Given the description of an element on the screen output the (x, y) to click on. 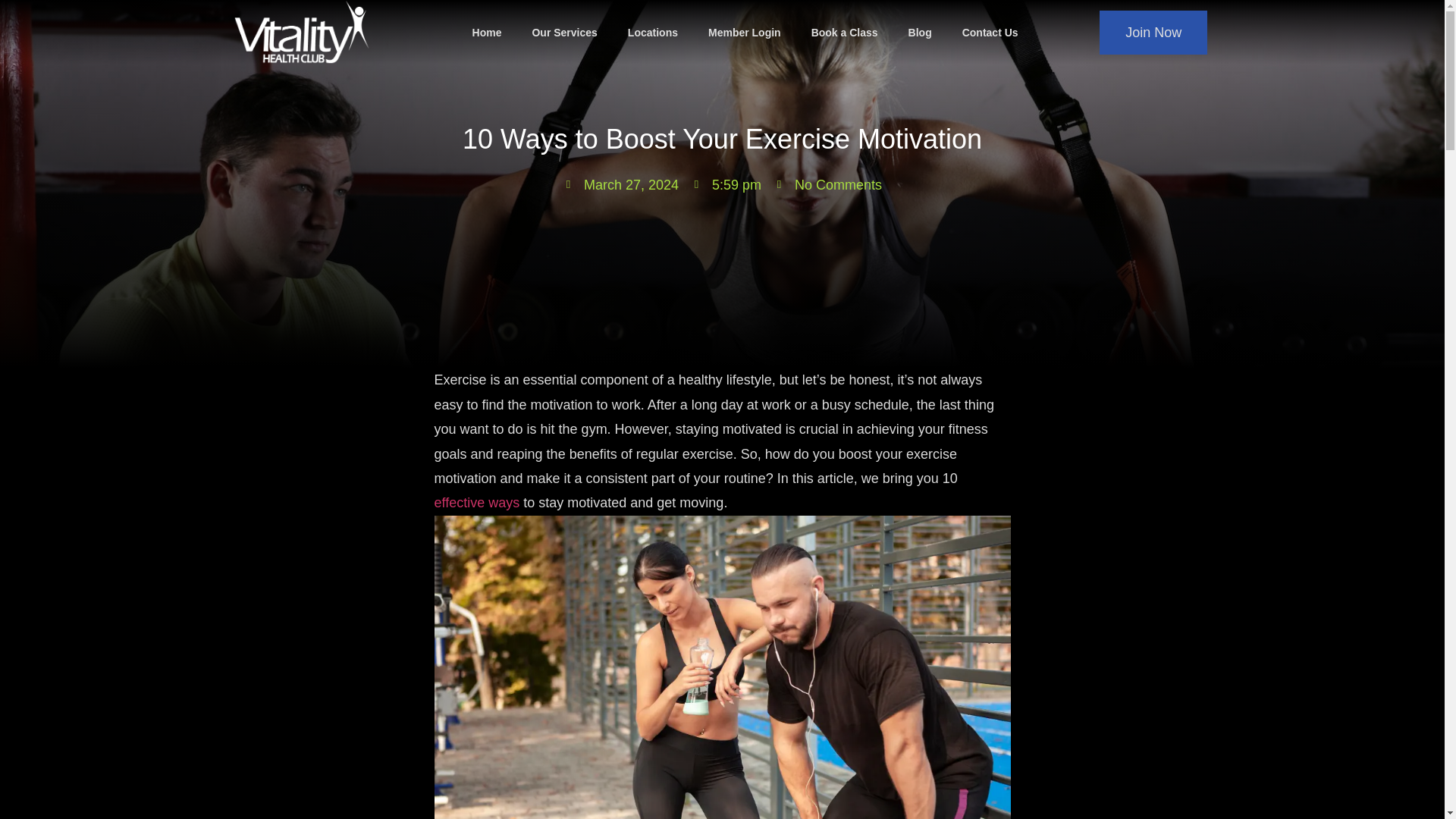
No Comments (827, 184)
Locations (652, 32)
Our Services (563, 32)
Blog (920, 32)
Member Login (744, 32)
March 27, 2024 (620, 184)
Book a Class (844, 32)
Join Now (1153, 32)
Home (486, 32)
Contact Us (990, 32)
effective ways (476, 502)
